Given the description of an element on the screen output the (x, y) to click on. 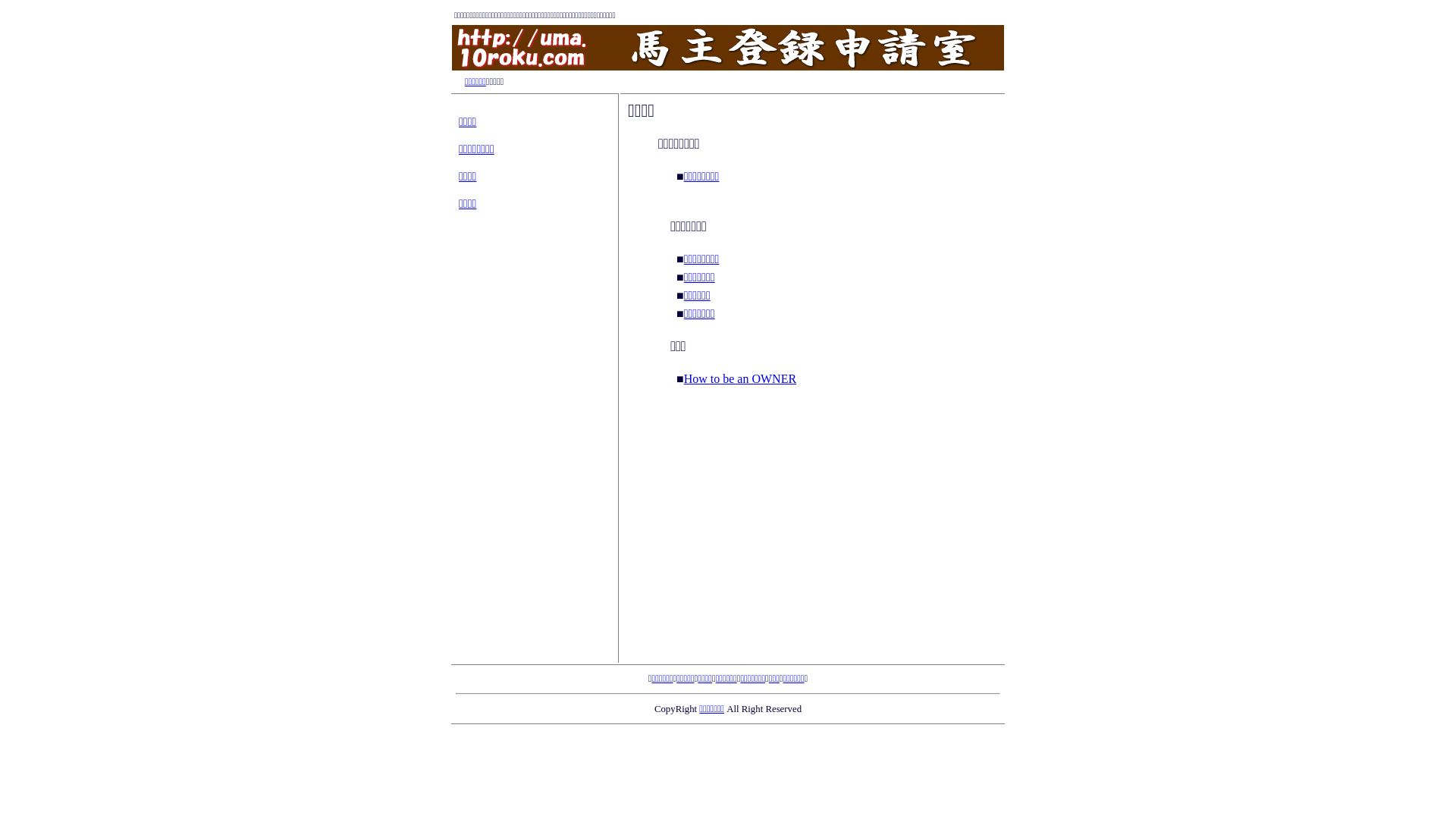
Advertisement Element type: hover (727, 763)
How to be an OWNER Element type: text (740, 377)
Advertisement Element type: hover (812, 530)
